Given the description of an element on the screen output the (x, y) to click on. 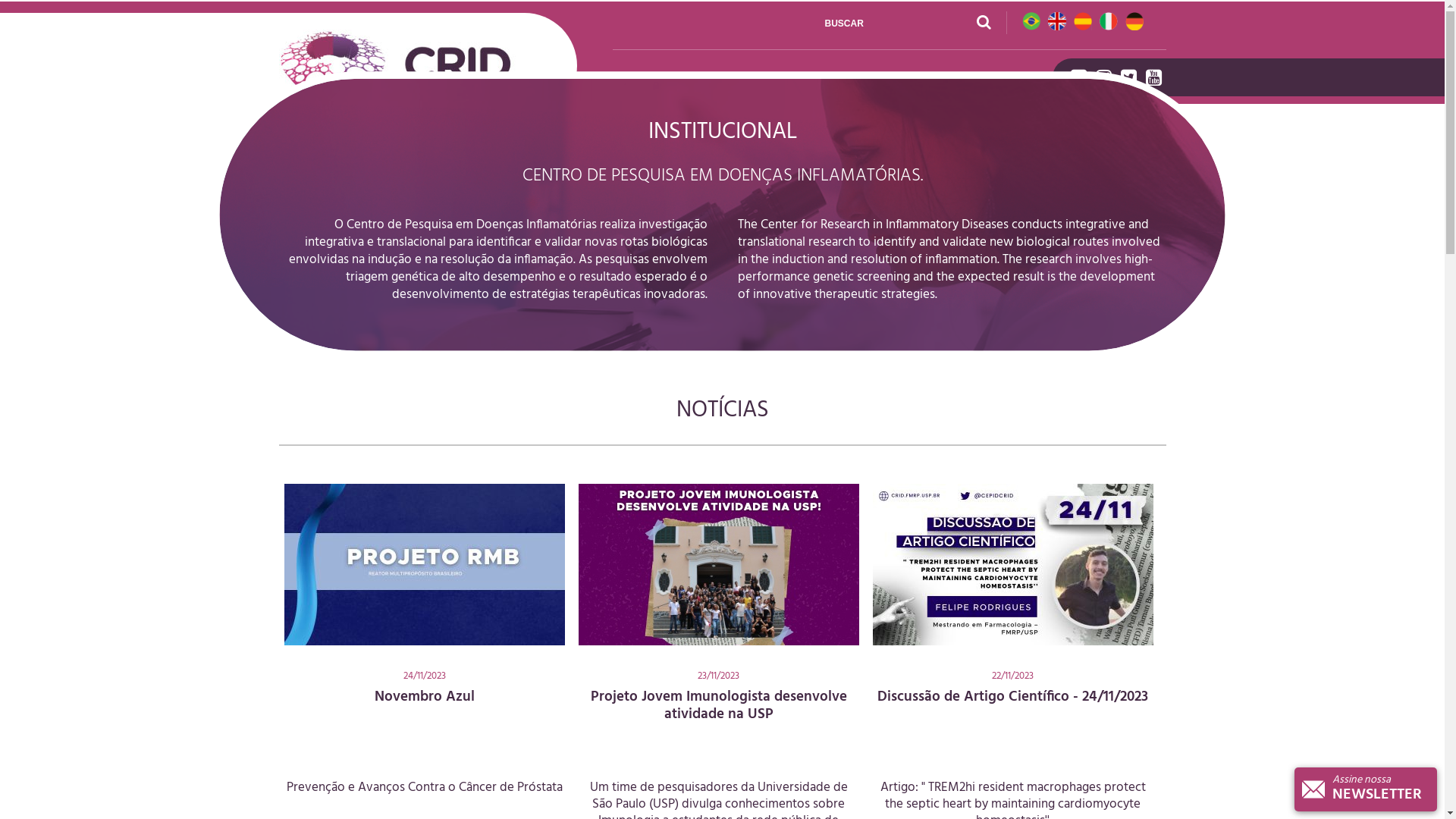
Assine nossa
NEWSLETTER Element type: text (1365, 789)
Crid Element type: text (412, 65)
PESQUISA Element type: text (678, 80)
Spanish Element type: hover (1082, 24)
CONTATO Element type: text (1010, 80)
CRID Element type: text (631, 80)
Italian Element type: hover (1108, 24)
English Element type: hover (1057, 24)
OPORTUNIDADES Element type: text (933, 80)
German Element type: hover (1134, 24)
